Given the description of an element on the screen output the (x, y) to click on. 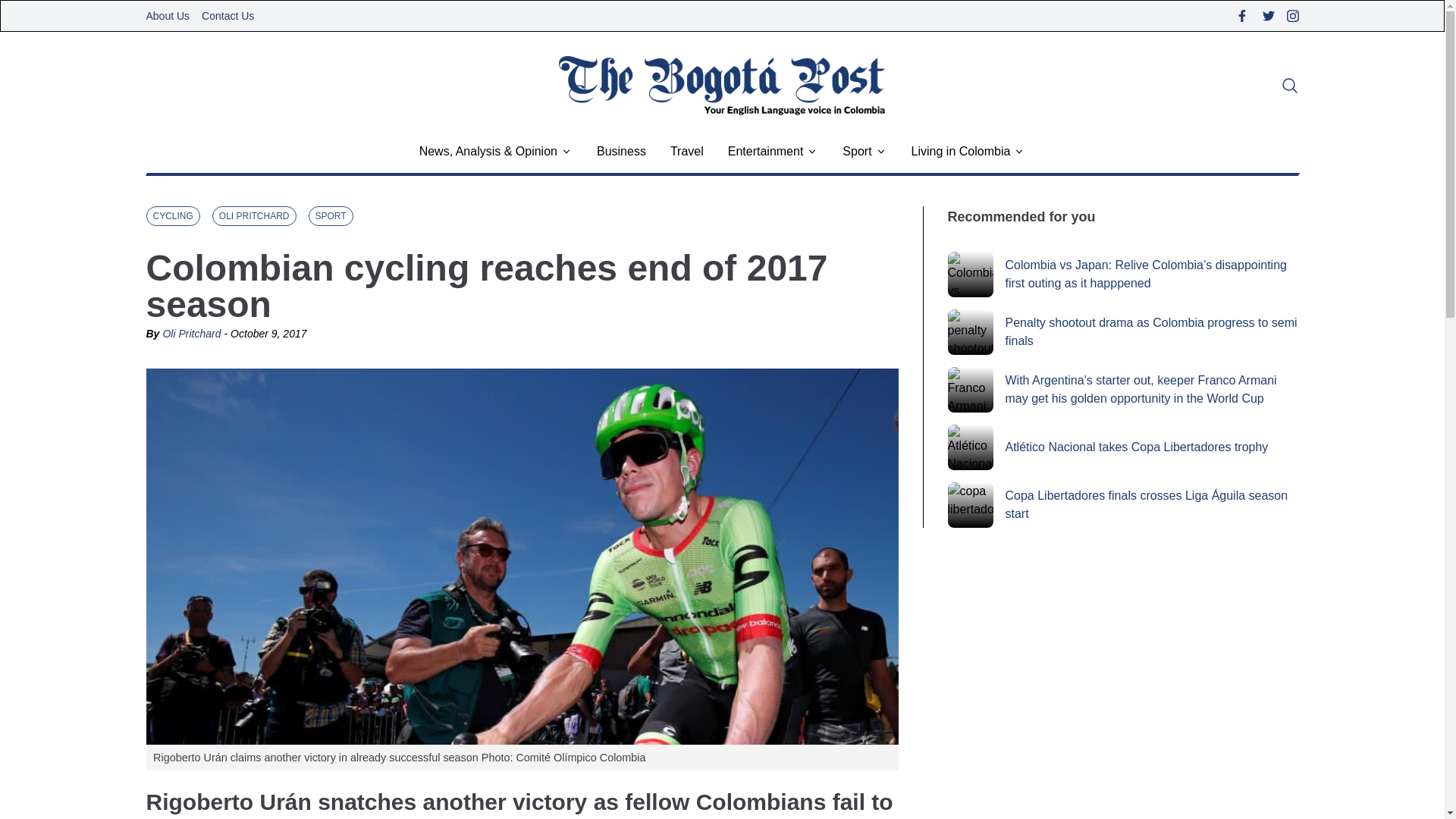
Business (621, 151)
CYCLING (172, 216)
Oli Pritchard (191, 333)
Entertainment (765, 151)
Travel (686, 151)
Contact Us (227, 15)
About Us (167, 15)
Sport (856, 151)
SPORT (330, 216)
Living in Colombia (960, 151)
OLI PRITCHARD (254, 216)
